Given the description of an element on the screen output the (x, y) to click on. 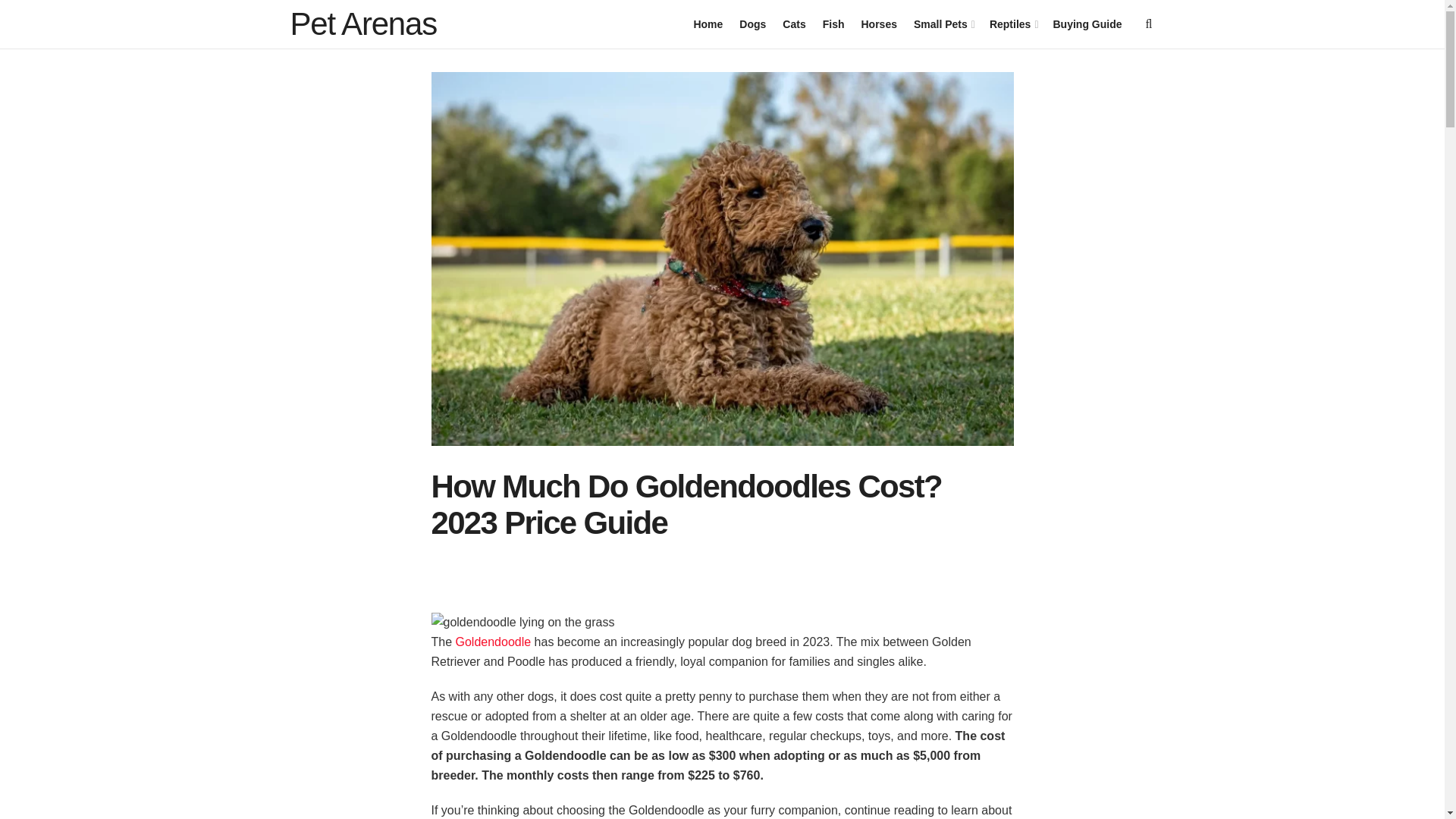
Buying Guide (1086, 24)
Pet Arenas (362, 24)
Reptiles (1013, 24)
Goldendoodle (493, 641)
Small Pets (943, 24)
